Given the description of an element on the screen output the (x, y) to click on. 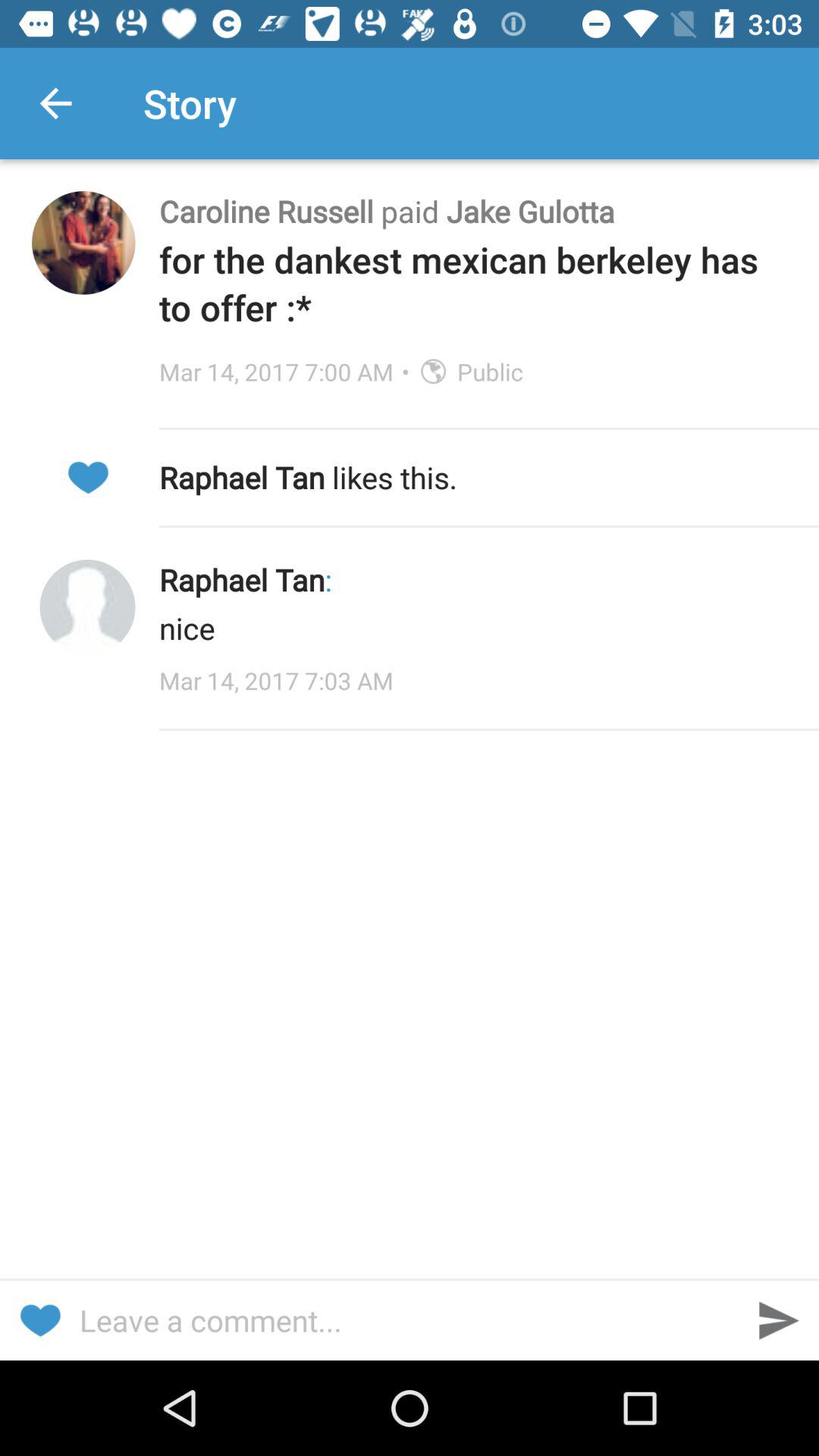
profile picture icon (87, 607)
